Given the description of an element on the screen output the (x, y) to click on. 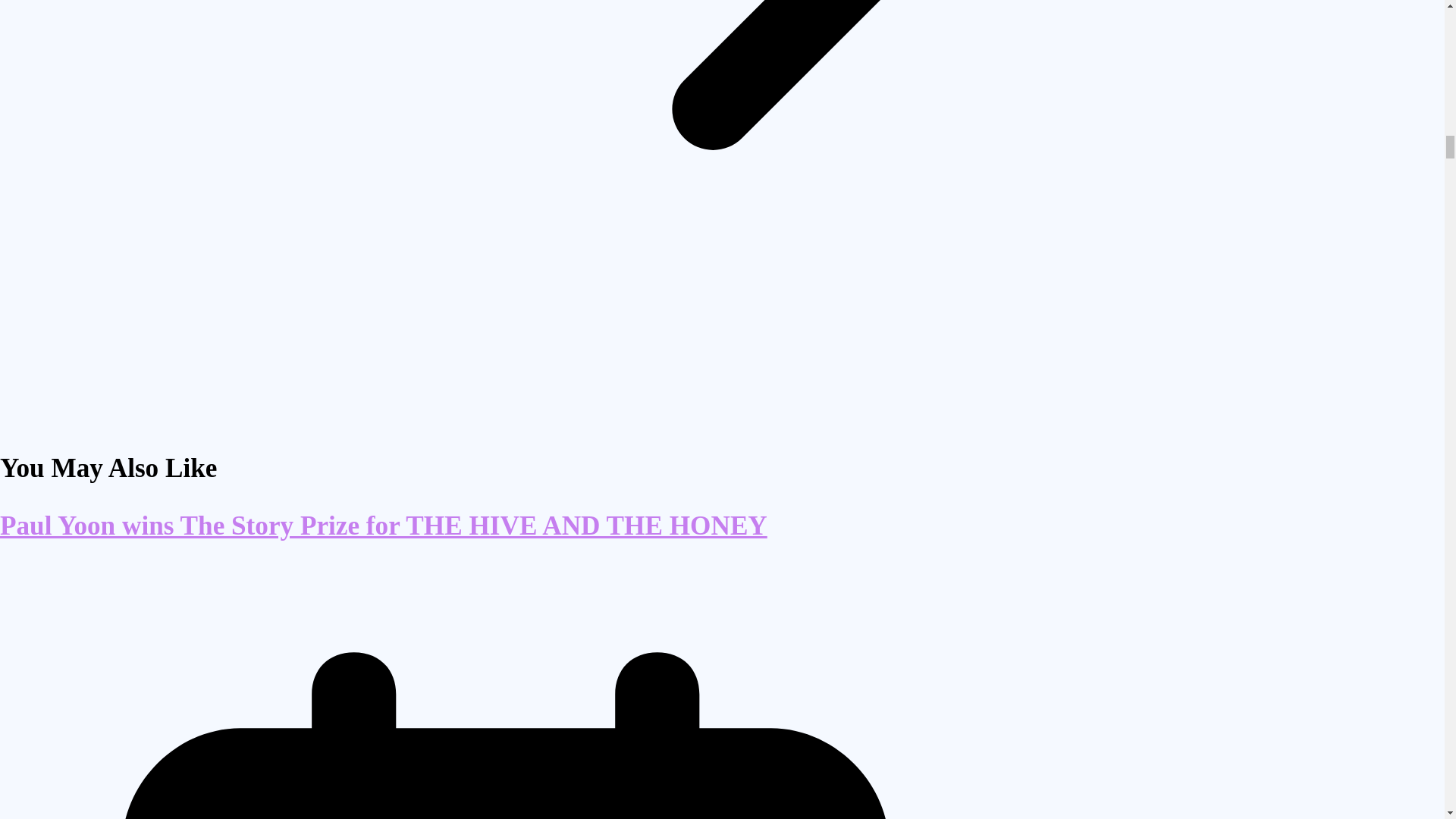
Paul Yoon wins The Story Prize for THE HIVE AND THE HONEY (383, 525)
